Given the description of an element on the screen output the (x, y) to click on. 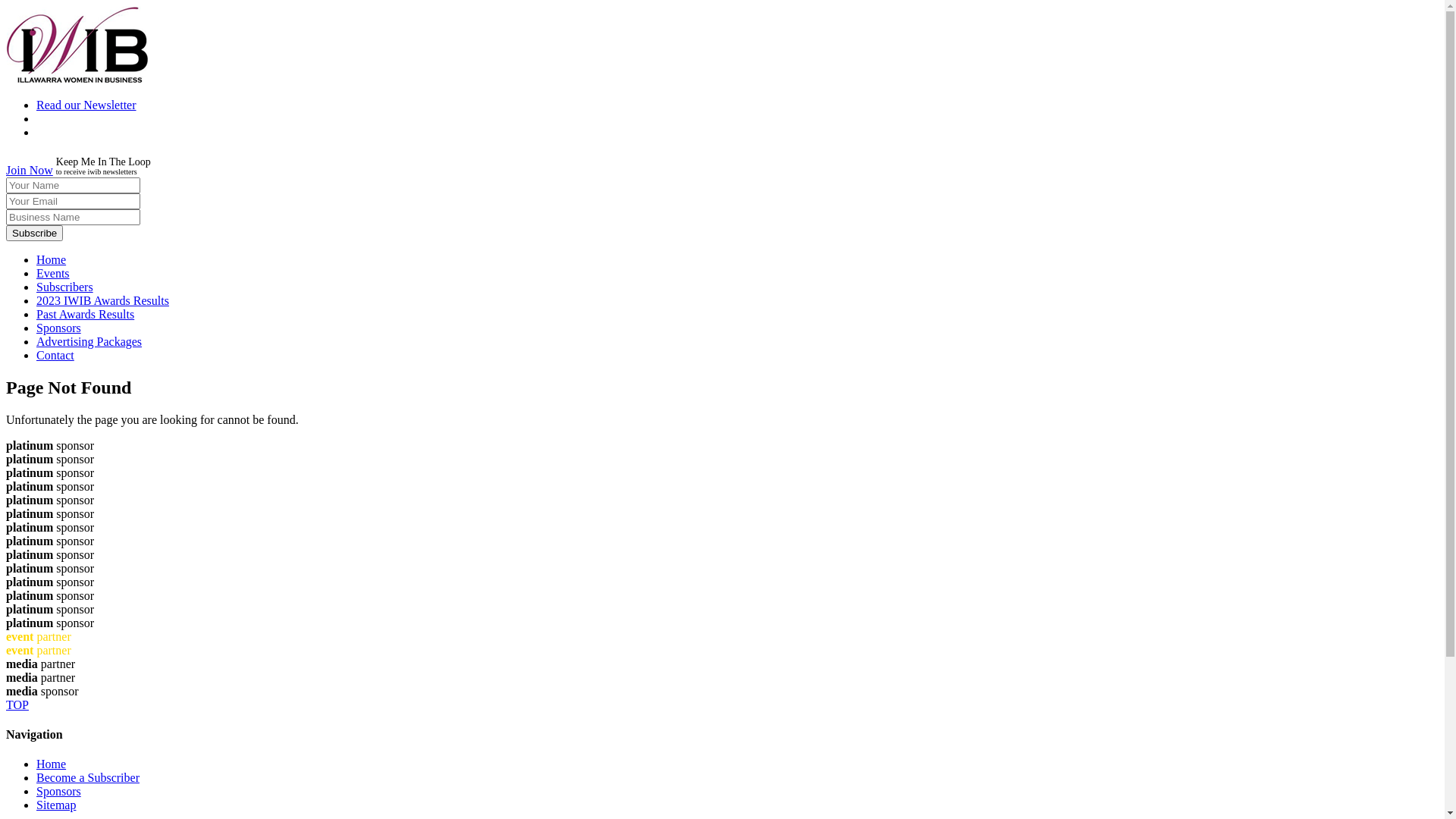
Home Element type: text (50, 763)
TOP Element type: text (722, 705)
Keep Me In The Loop
to receive iwib newsletters Element type: text (103, 169)
2023 IWIB Awards Results Element type: text (102, 300)
Events Element type: text (52, 272)
Read our Newsletter Element type: text (86, 104)
Join Now Element type: text (29, 169)
Sponsors Element type: text (58, 327)
Subscribers Element type: text (64, 286)
Become a Subscriber Element type: text (87, 777)
Contact Element type: text (55, 354)
Illawarra Women in Business Element type: hover (77, 78)
Past Awards Results Element type: text (85, 313)
Subscribe Element type: text (34, 233)
Sponsors Element type: text (58, 790)
Advertising Packages Element type: text (88, 341)
Home Element type: text (50, 259)
Sitemap Element type: text (55, 804)
